Given the description of an element on the screen output the (x, y) to click on. 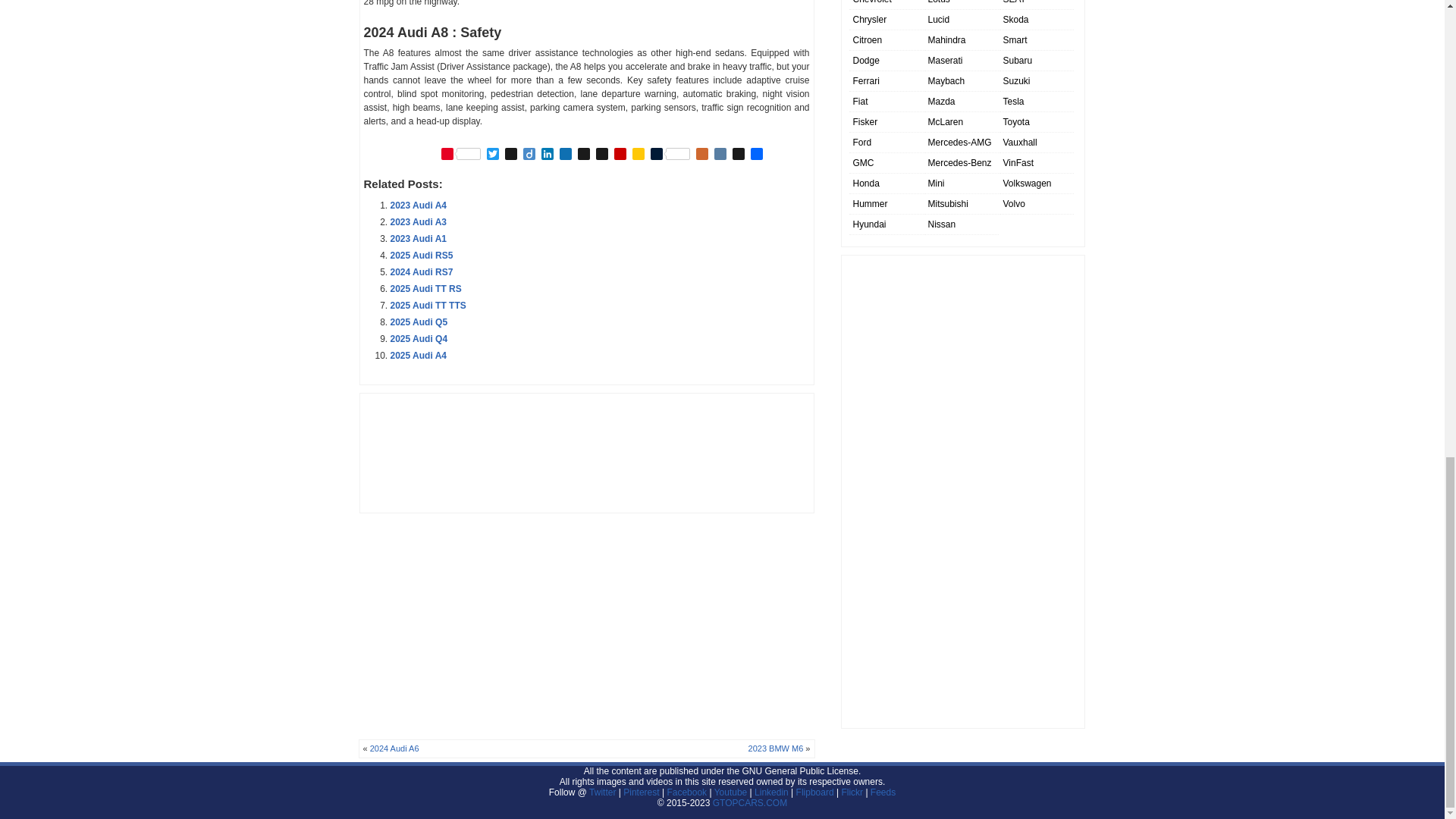
Digg (510, 155)
2023 Audi A4 (417, 204)
Folkd (565, 155)
2023 Audi A3 (417, 222)
Share (756, 155)
Twitter (492, 155)
Diigo (528, 155)
SiteJot (637, 155)
BibSonomy (583, 155)
Tumblr (670, 155)
Digg (510, 155)
Twitter (492, 155)
VK (720, 155)
BibSonomy (583, 155)
Instapaper (601, 155)
